Given the description of an element on the screen output the (x, y) to click on. 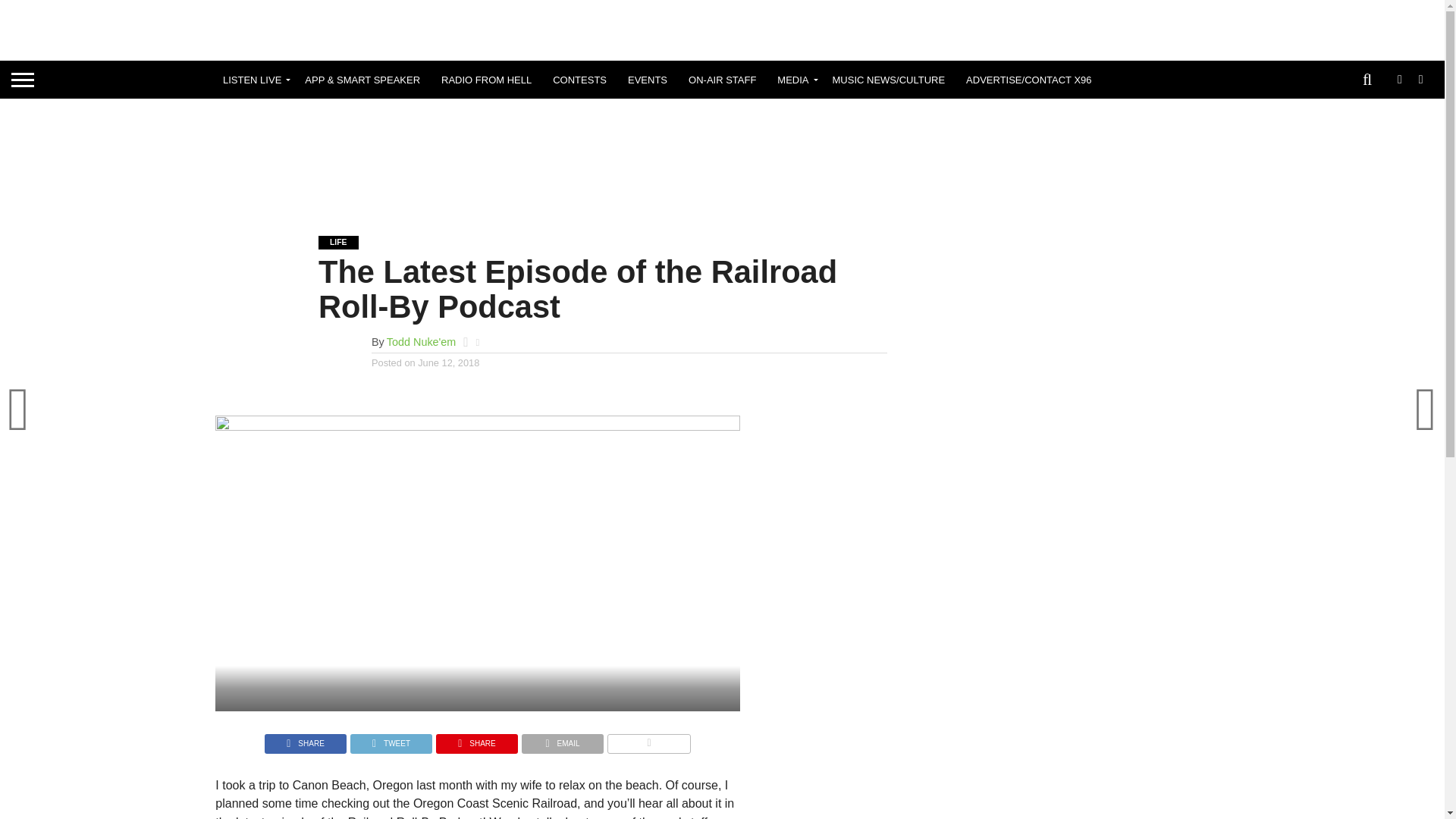
LISTEN LIVE (253, 79)
EVENTS (647, 79)
Pin This Post (476, 739)
Share on Facebook (305, 739)
ON-AIR STAFF (722, 79)
MEDIA (794, 79)
Posts by Todd Nuke'em (422, 341)
Advertisement (721, 156)
CONTESTS (579, 79)
RADIO FROM HELL (485, 79)
